Given the description of an element on the screen output the (x, y) to click on. 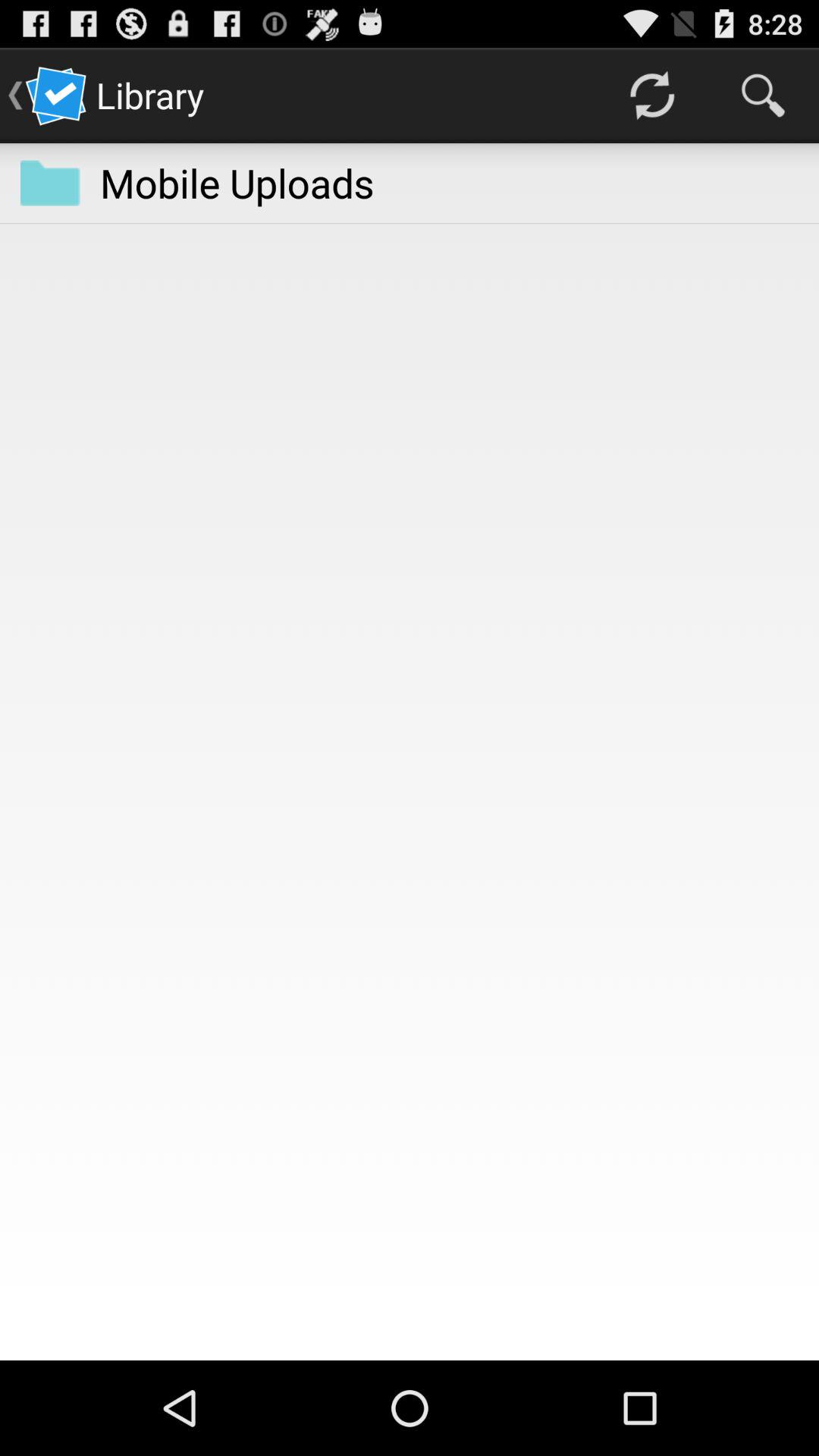
open the mobile uploads (237, 182)
